Given the description of an element on the screen output the (x, y) to click on. 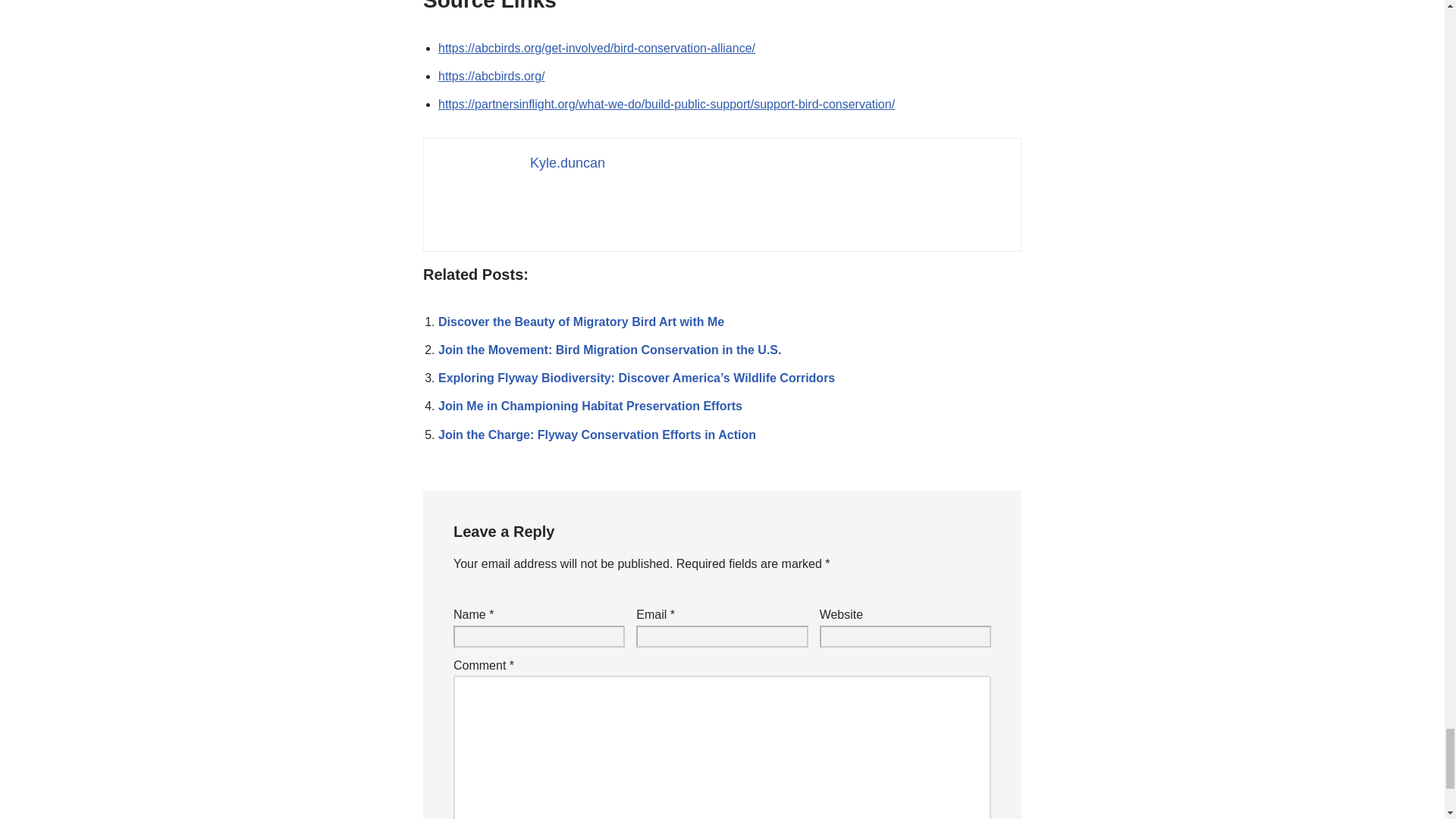
Join the Charge: Flyway Conservation Efforts in Action (596, 433)
Join the Movement: Bird Migration Conservation in the U.S. (609, 349)
Discover the Beauty of Migratory Bird Art with Me (580, 321)
Join Me in Championing Habitat Preservation Efforts (590, 405)
Join the Movement: Bird Migration Conservation in the U.S. (609, 349)
Discover the Beauty of Migratory Bird Art with Me (580, 321)
Join the Charge: Flyway Conservation Efforts in Action (596, 433)
Join Me in Championing Habitat Preservation Efforts (590, 405)
Kyle.duncan (567, 162)
